Given the description of an element on the screen output the (x, y) to click on. 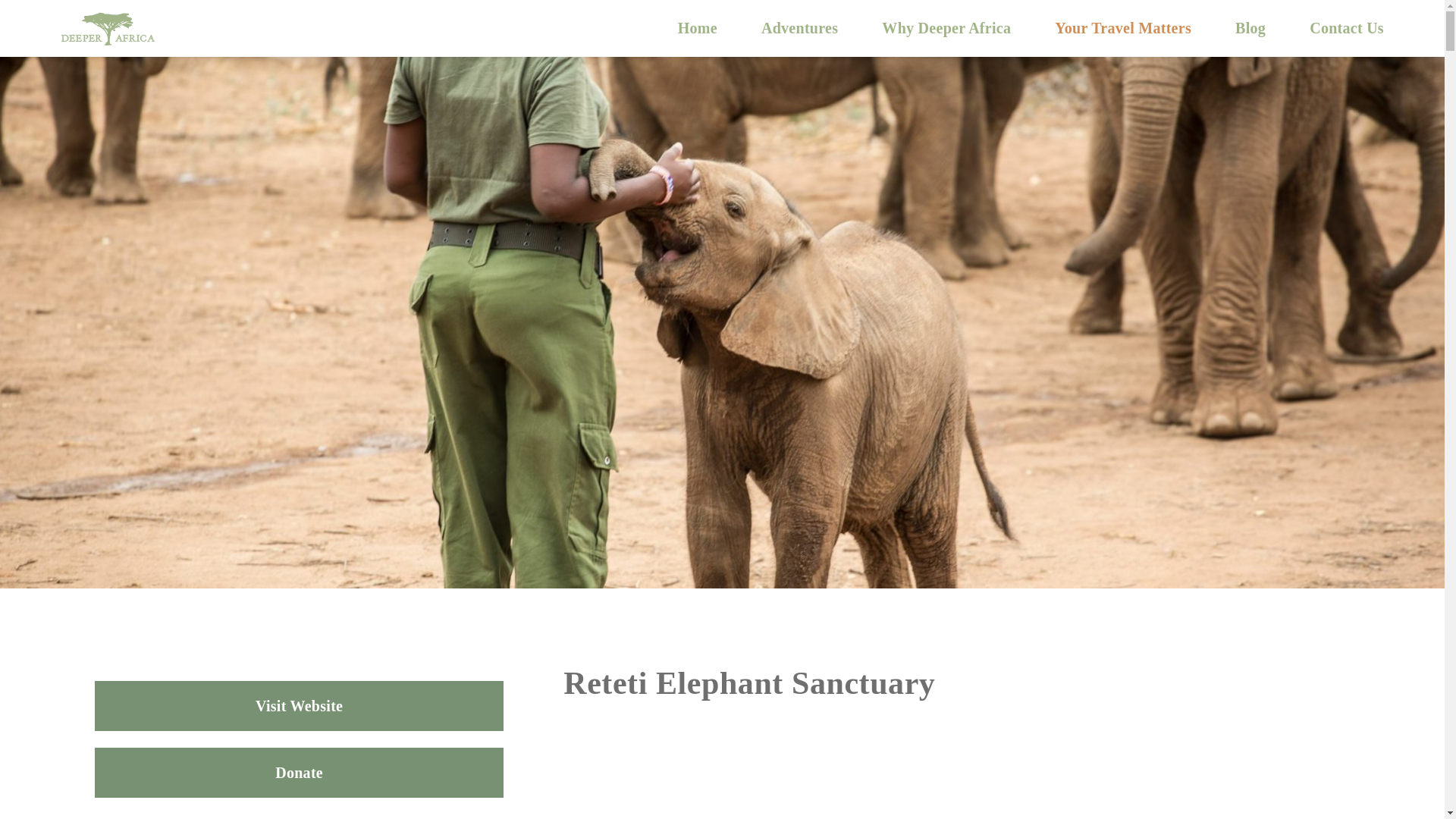
Why Deeper Africa (946, 27)
Home (697, 27)
Adventures (799, 27)
Visit Website (298, 705)
Your Travel Matters (1122, 27)
Donate (298, 772)
Contact Us (1346, 27)
Blog (1249, 27)
